Given the description of an element on the screen output the (x, y) to click on. 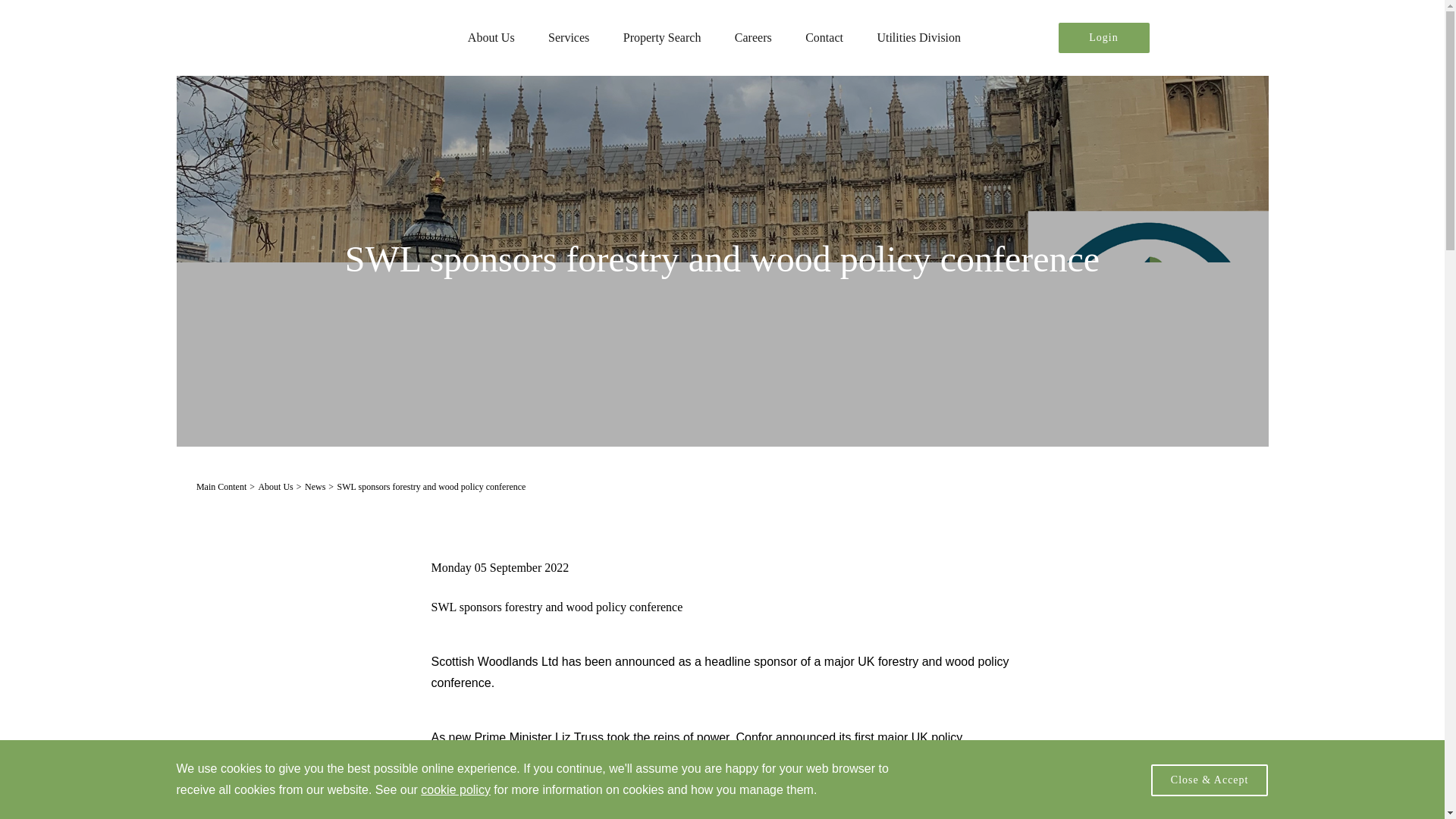
About Us (491, 37)
Services (568, 37)
Scottish Woodlands (310, 34)
Search (1190, 37)
cookie policy (455, 789)
